Given the description of an element on the screen output the (x, y) to click on. 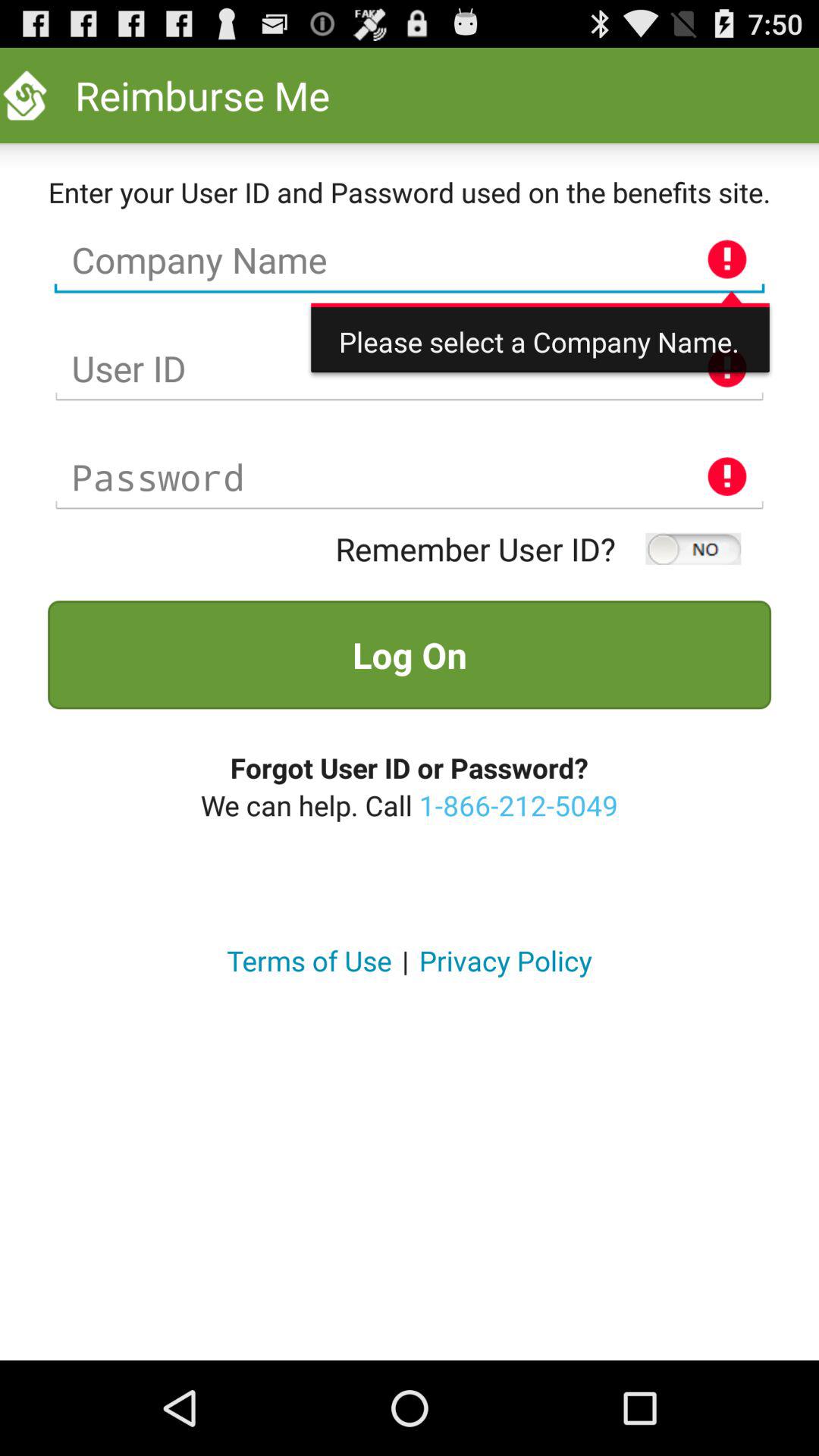
enter user id (409, 368)
